Given the description of an element on the screen output the (x, y) to click on. 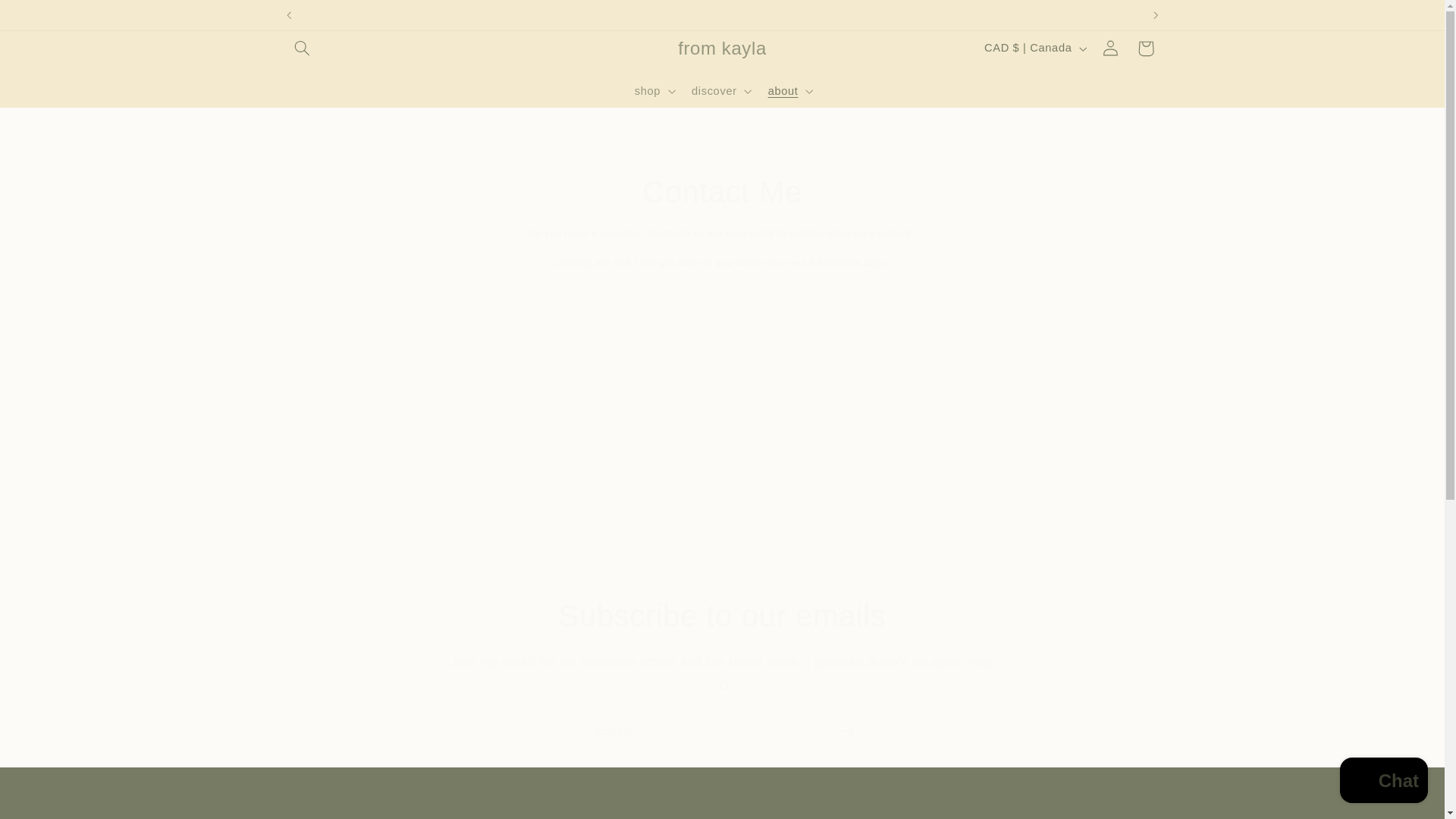
Contact Me (722, 191)
Shopify online store chat (1383, 781)
Subscribe to our emails (722, 615)
from kayla (721, 48)
Email (722, 731)
Skip to content (48, 18)
